Given the description of an element on the screen output the (x, y) to click on. 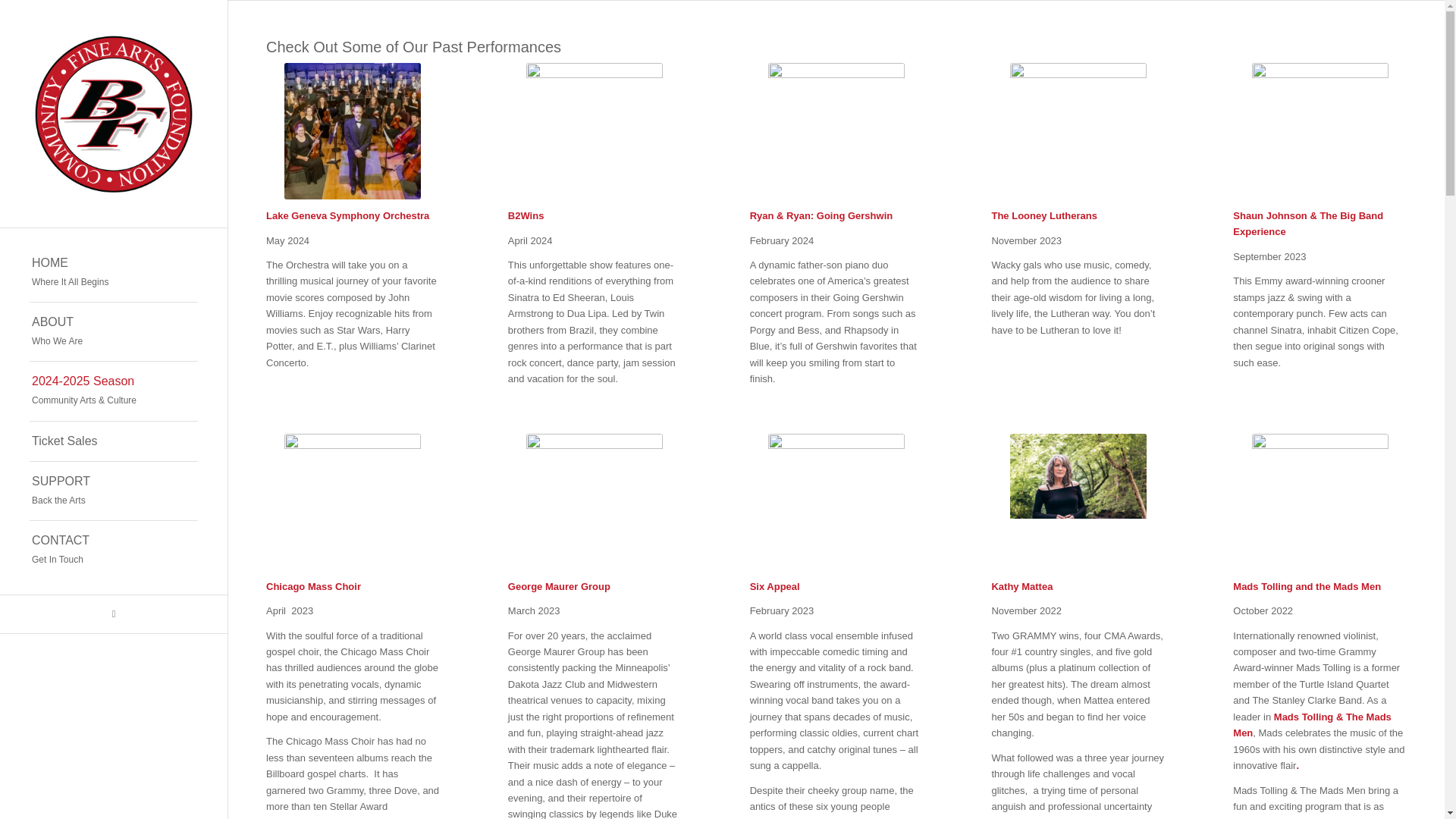
6A 2023 02 (836, 502)
Ticket Sales (113, 441)
B2wins (593, 131)
GMG web (593, 502)
Facebook (113, 490)
Mads-Men-Green-Gate-cool-by-John-Tinger web (113, 614)
